Given the description of an element on the screen output the (x, y) to click on. 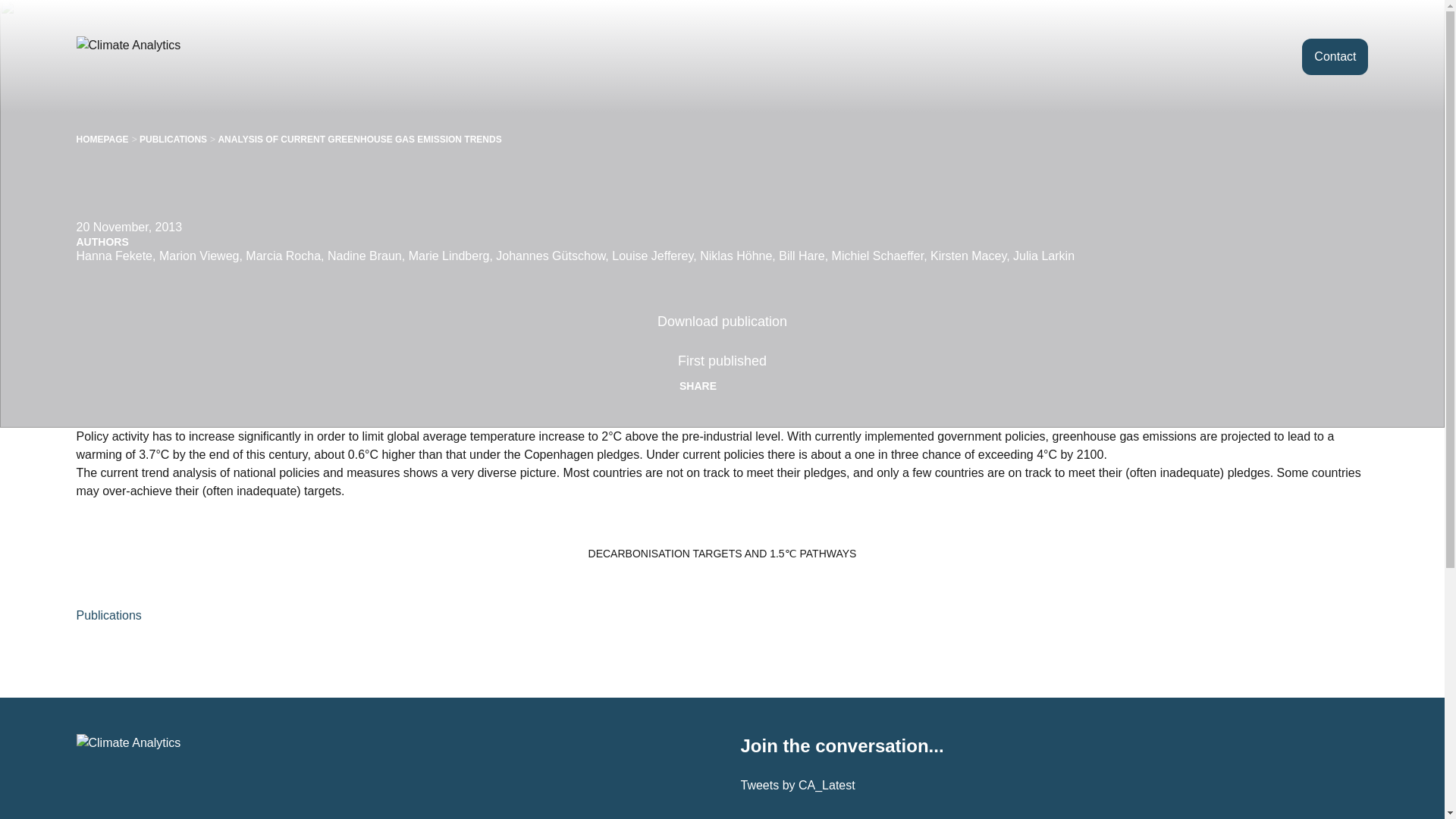
Contact (1334, 55)
Return to homepage (153, 56)
